Given the description of an element on the screen output the (x, y) to click on. 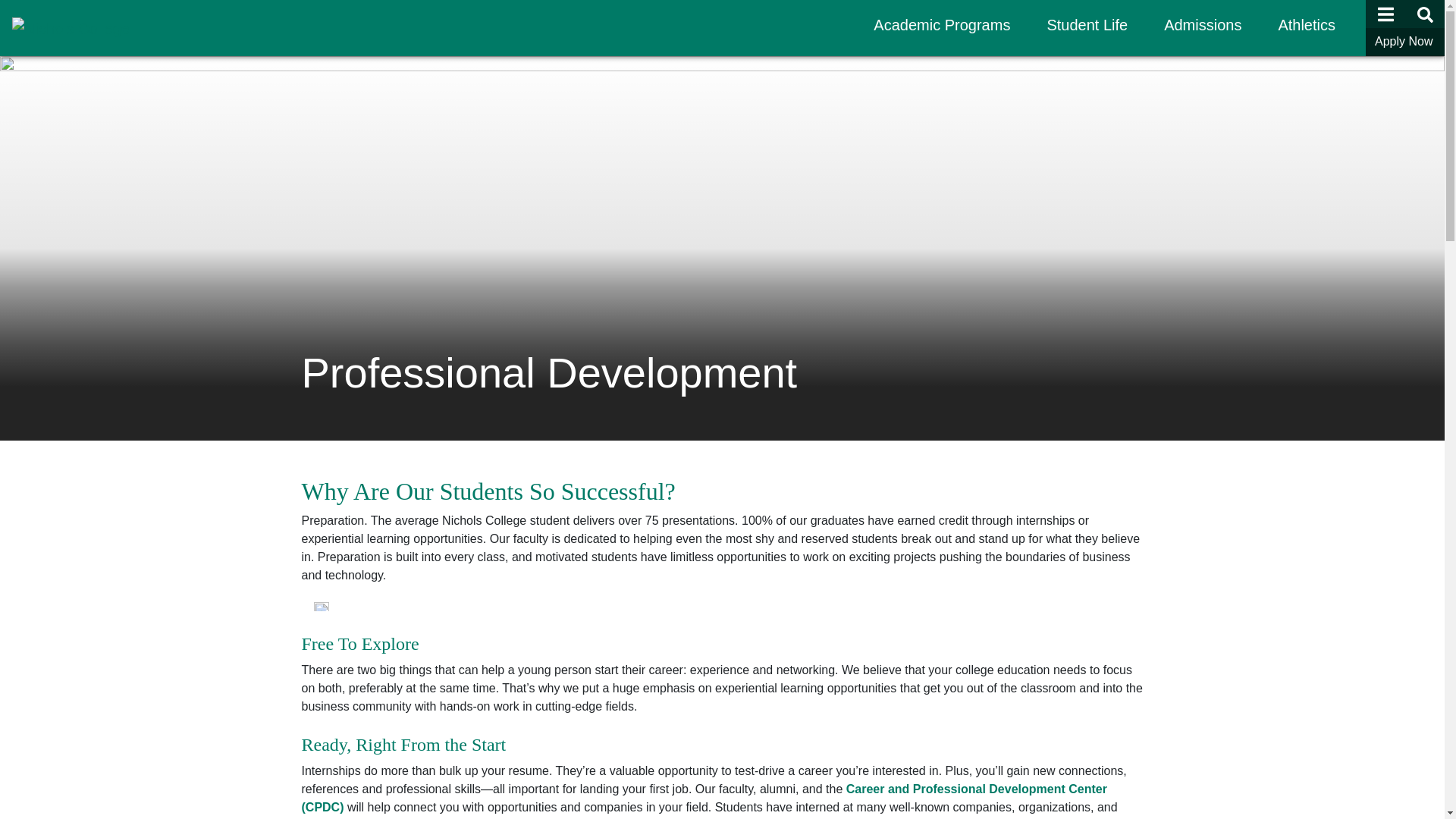
Athletics (1306, 24)
Student Life (1086, 24)
Academic Programs (941, 24)
Admissions (1202, 24)
